Given the description of an element on the screen output the (x, y) to click on. 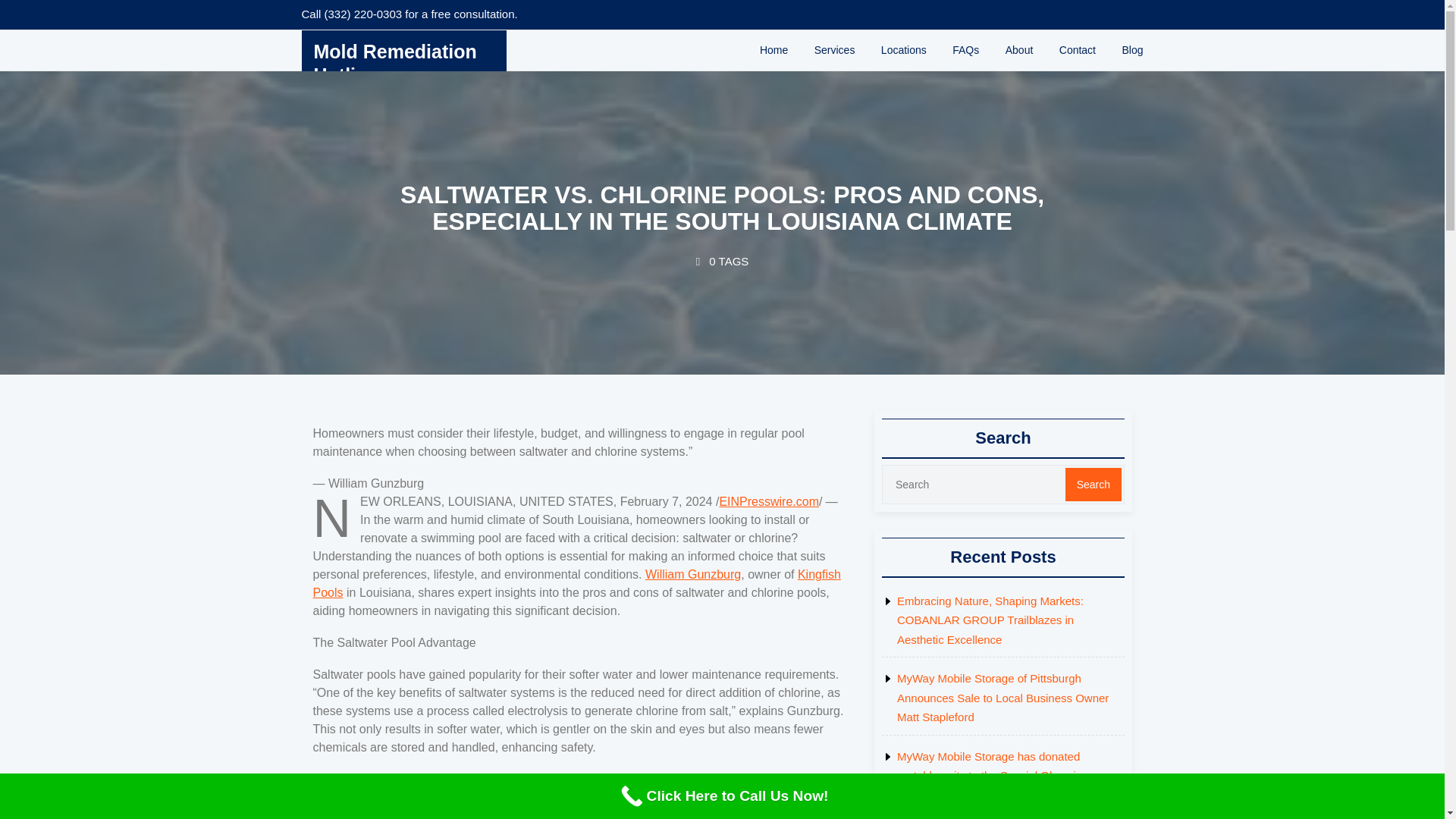
Kingfish Pools (576, 582)
Services (834, 85)
Locations (903, 81)
William Gunzburg (693, 573)
About (1019, 79)
Blog (1131, 74)
FAQs (965, 80)
Search (1090, 483)
Contact (1077, 76)
EINPresswire.com (768, 500)
Home (773, 86)
Mold Remediation Hotline (395, 103)
